Given the description of an element on the screen output the (x, y) to click on. 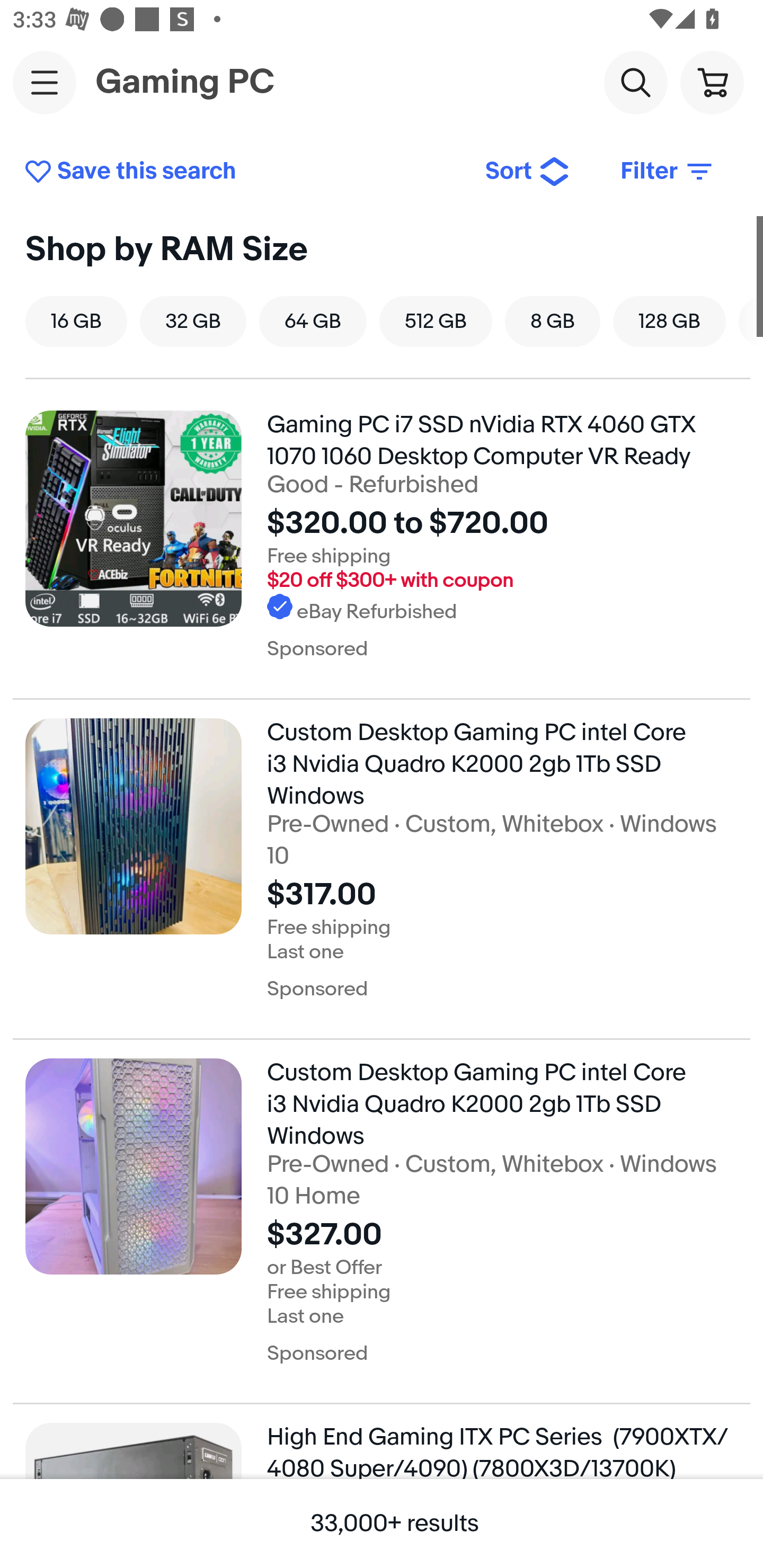
Main navigation, open (44, 82)
Search (635, 81)
Cart button shopping cart (711, 81)
Save this search (241, 171)
Sort (527, 171)
Filter (667, 171)
16 GB 16 GB, RAM Size (76, 321)
32 GB 32 GB, RAM Size (192, 321)
64 GB 64 GB, RAM Size (313, 321)
512 GB 512 GB, RAM Size (435, 321)
8 GB 8 GB, RAM Size (552, 321)
128 GB 128 GB, RAM Size (668, 321)
